Given the description of an element on the screen output the (x, y) to click on. 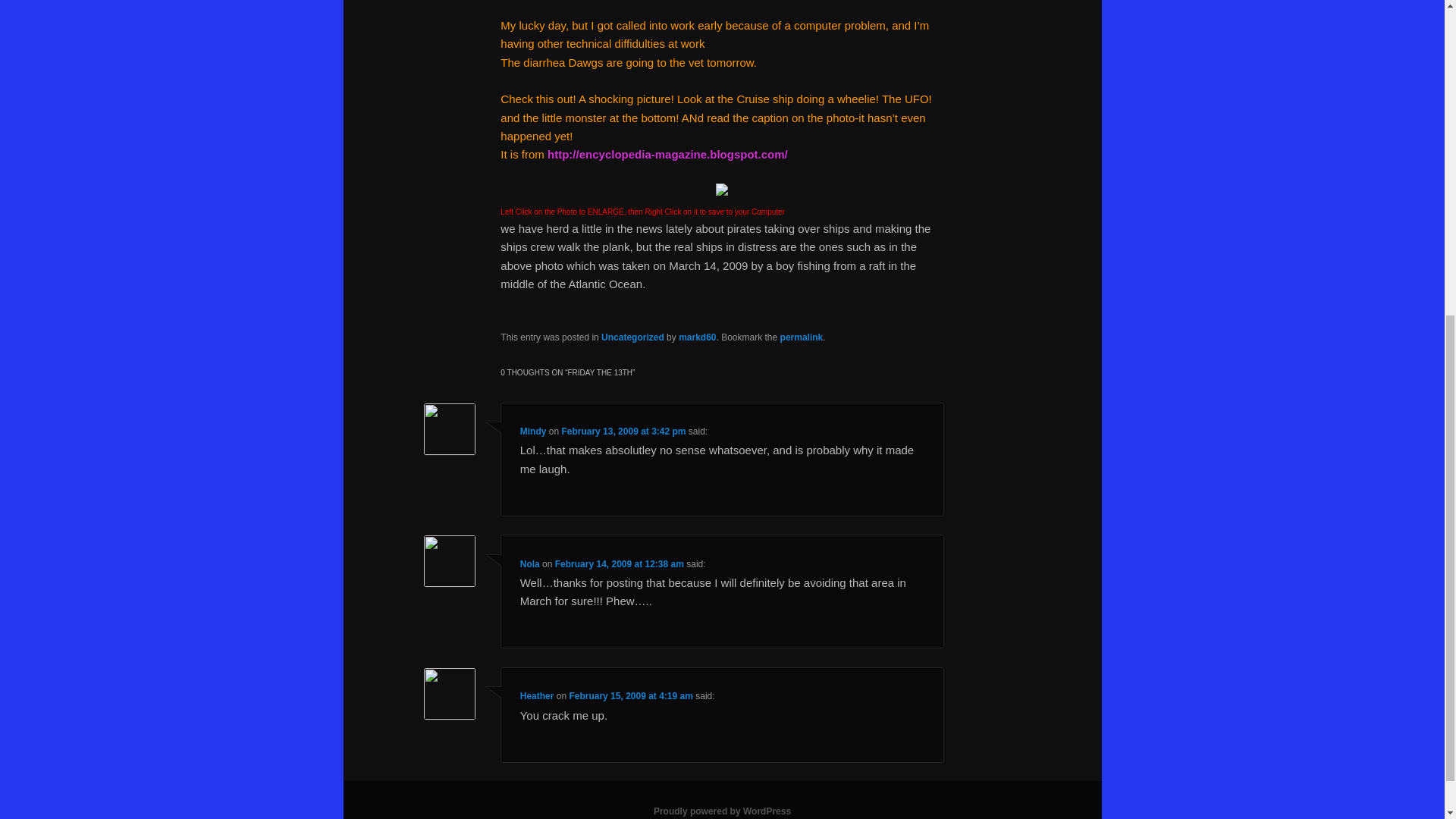
February 14, 2009 at 12:38 am (619, 563)
Nola (529, 563)
February 15, 2009 at 4:19 am (631, 696)
Mindy (533, 430)
permalink (802, 337)
Heather (536, 696)
Permalink to Friday the 13th (802, 337)
February 13, 2009 at 3:42 pm (622, 430)
Proudly powered by WordPress (721, 810)
Semantic Personal Publishing Platform (721, 810)
markd60 (697, 337)
Uncategorized (632, 337)
